Given the description of an element on the screen output the (x, y) to click on. 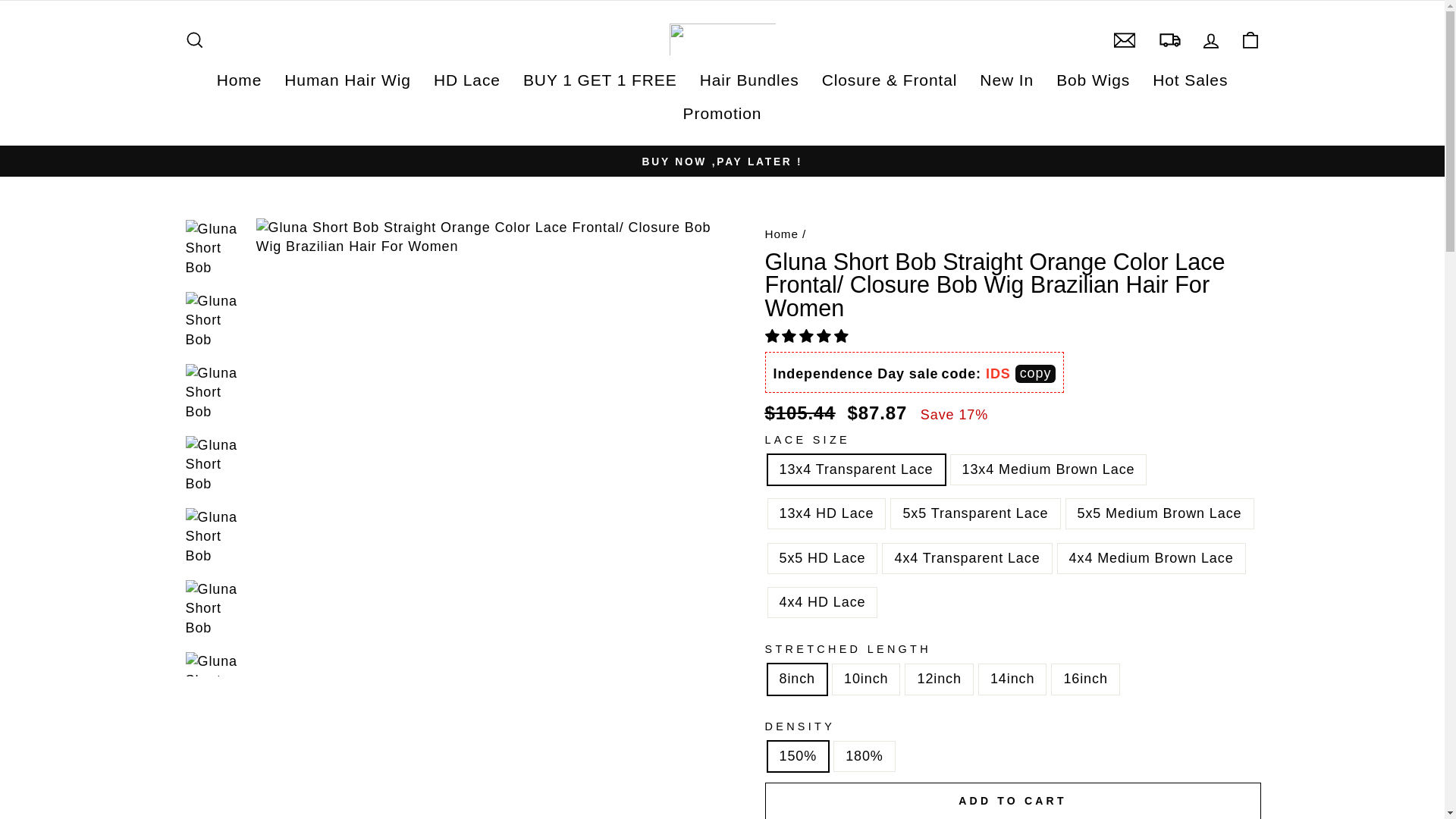
Back to the frontpage (780, 233)
